Given the description of an element on the screen output the (x, y) to click on. 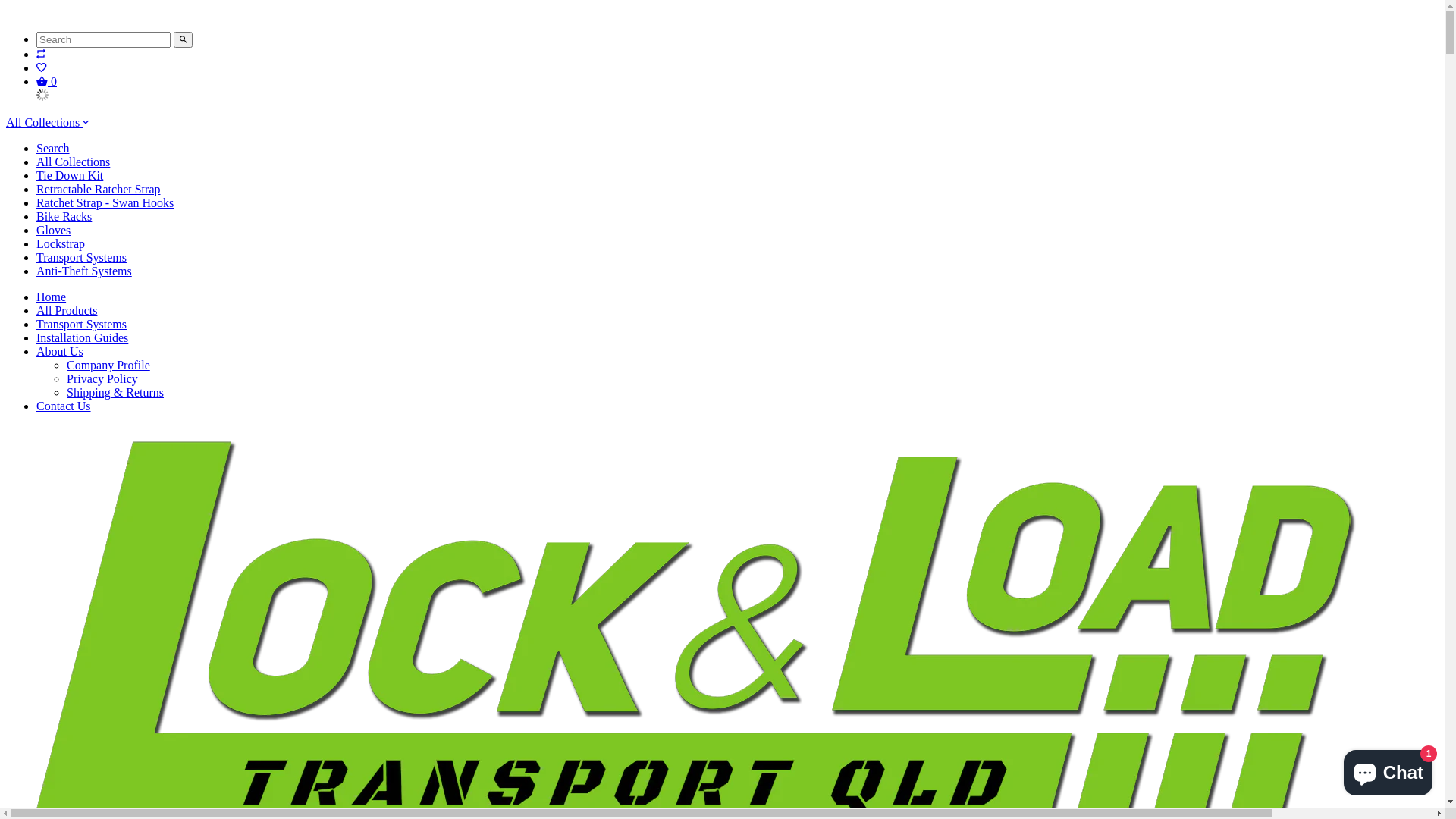
0 Element type: text (46, 81)
All Collections Element type: text (72, 161)
Contact Us Element type: text (63, 405)
Retractable Ratchet Strap Element type: text (98, 188)
Shipping & Returns Element type: text (114, 391)
Bike Racks Element type: text (63, 216)
Installation Guides Element type: text (82, 337)
Search Element type: text (52, 147)
Tie Down Kit Element type: text (69, 175)
Transport Systems Element type: text (81, 257)
Lockstrap Element type: text (60, 243)
Home Element type: text (50, 296)
Anti-Theft Systems Element type: text (83, 270)
Transport Systems Element type: text (81, 323)
Gloves Element type: text (53, 229)
Shopify online store chat Element type: hover (1388, 769)
Privacy Policy Element type: text (102, 378)
All Collections Element type: text (47, 122)
About Us Element type: text (59, 351)
Ratchet Strap - Swan Hooks Element type: text (104, 202)
All Products Element type: text (66, 310)
Company Profile Element type: text (108, 364)
